Given the description of an element on the screen output the (x, y) to click on. 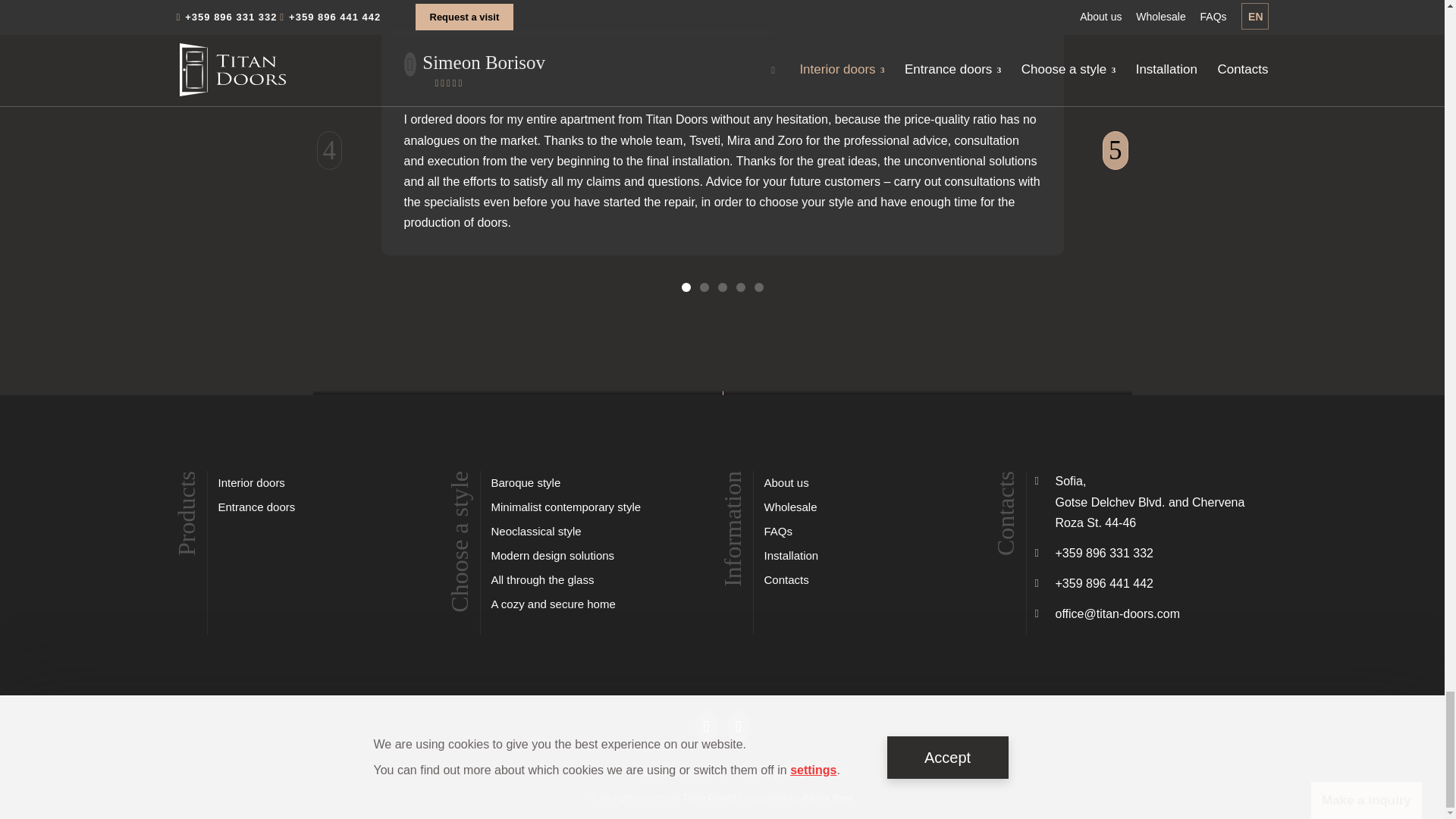
Titan Doors (708, 797)
